Given the description of an element on the screen output the (x, y) to click on. 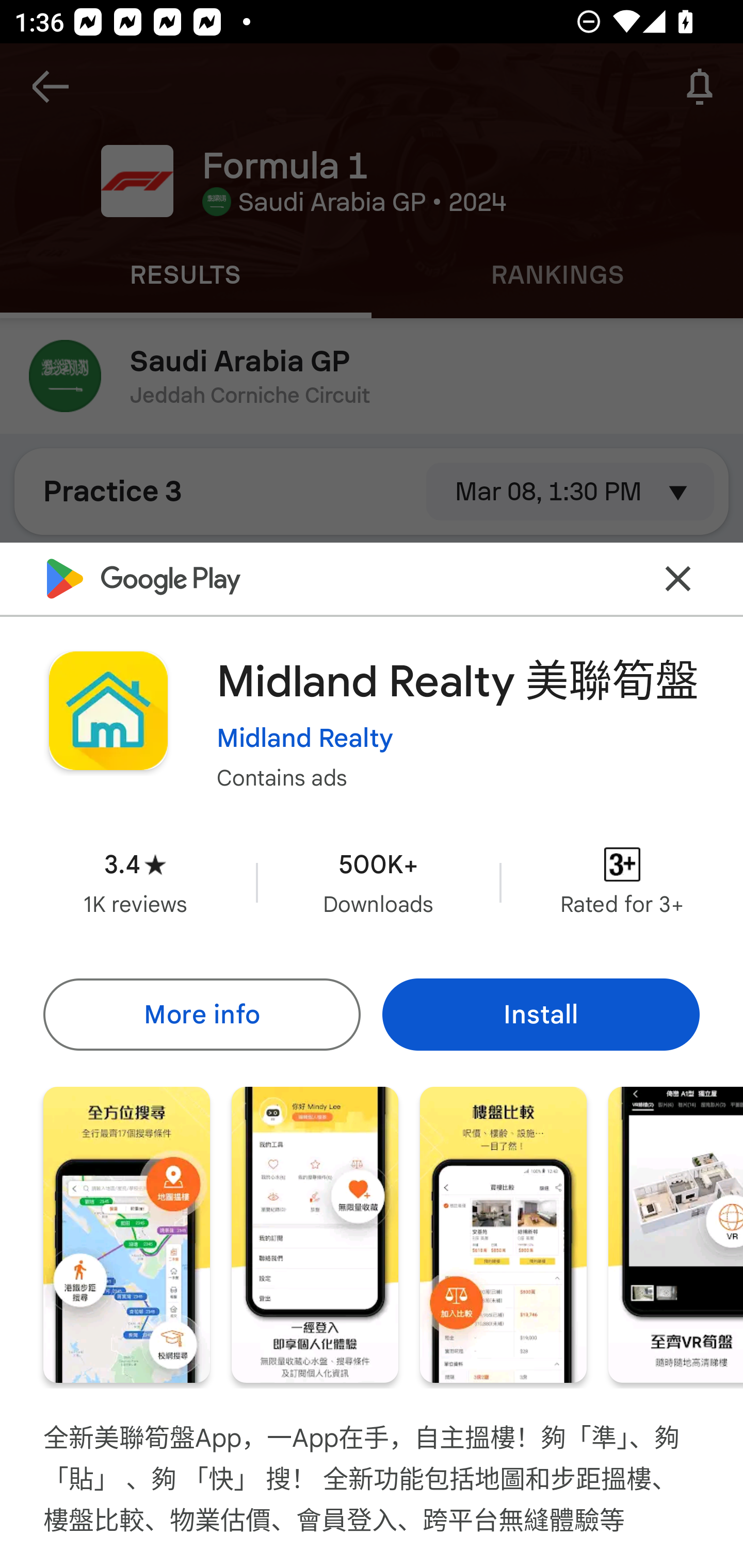
Close (677, 578)
Image of app or game icon for Midland Realty 美聯筍盤 (108, 711)
Midland Realty (304, 737)
More info (201, 1014)
Install (540, 1014)
Screenshot "1" of "7" (126, 1234)
Screenshot "2" of "7" (314, 1234)
Screenshot "3" of "7" (502, 1234)
Screenshot "4" of "7" (675, 1234)
